Given the description of an element on the screen output the (x, y) to click on. 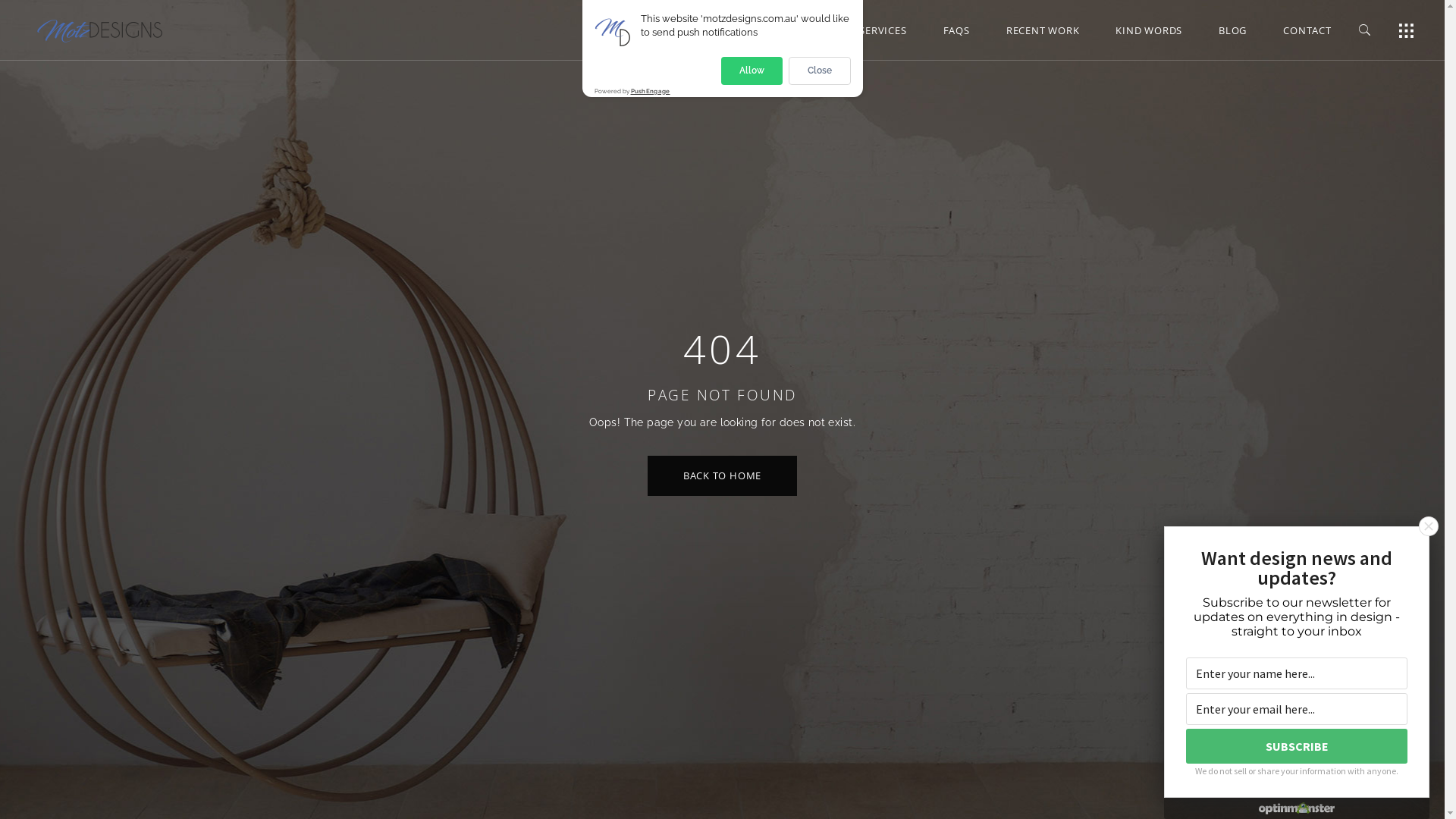
CONTACT Element type: text (1306, 29)
FAQS Element type: text (956, 29)
KIND WORDS Element type: text (1148, 29)
Close Element type: hover (1428, 526)
BLOG Element type: text (1232, 29)
HOME Element type: text (735, 29)
BACK TO HOME Element type: text (722, 475)
ABOUT Element type: text (804, 29)
SERVICES Element type: text (882, 29)
RECENT WORK Element type: text (1043, 29)
Powered by OptinMonster Element type: hover (1296, 808)
SUBSCRIBE Element type: text (1296, 745)
